Given the description of an element on the screen output the (x, y) to click on. 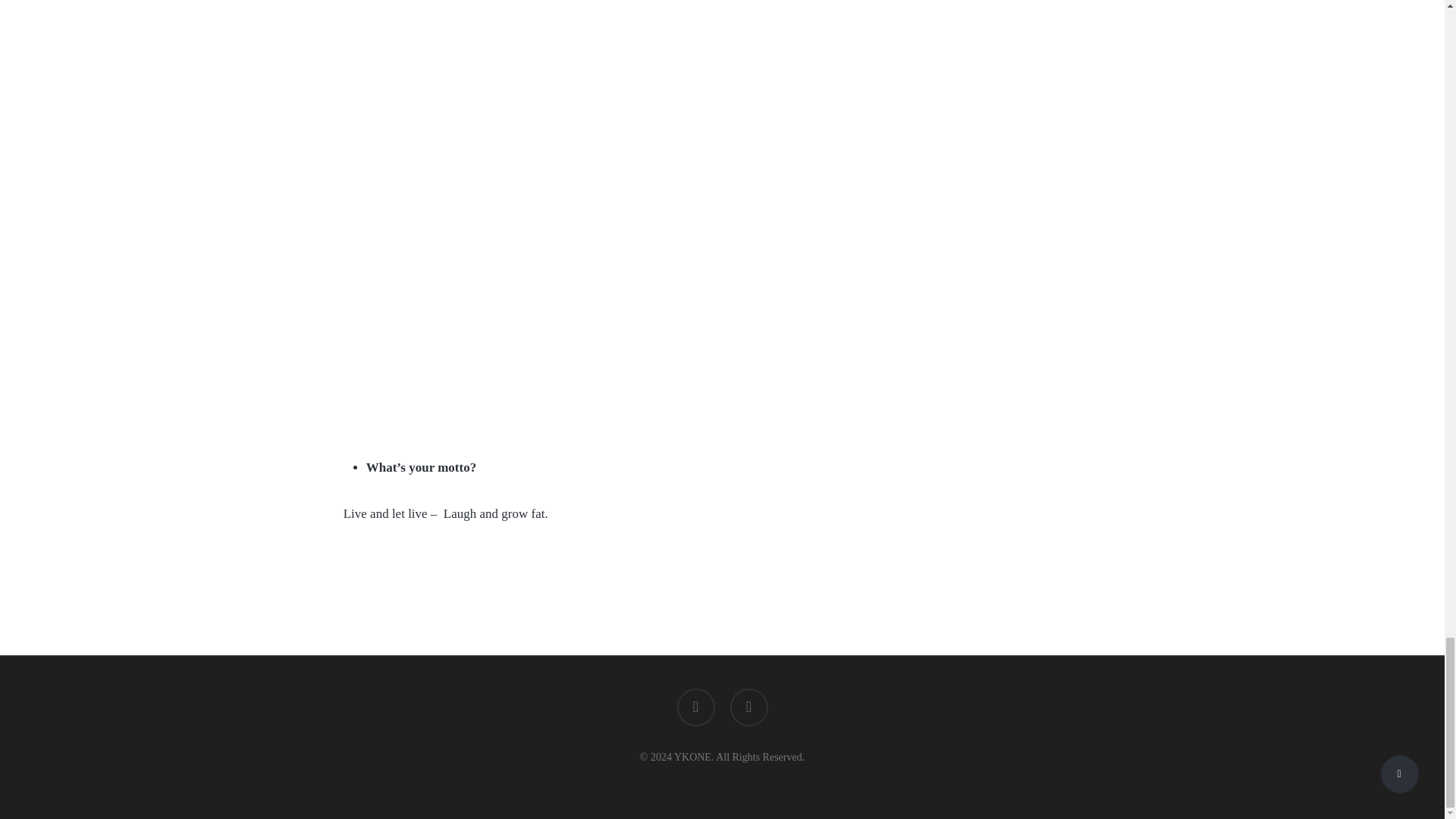
linkedin (695, 709)
instagram (748, 709)
